Given the description of an element on the screen output the (x, y) to click on. 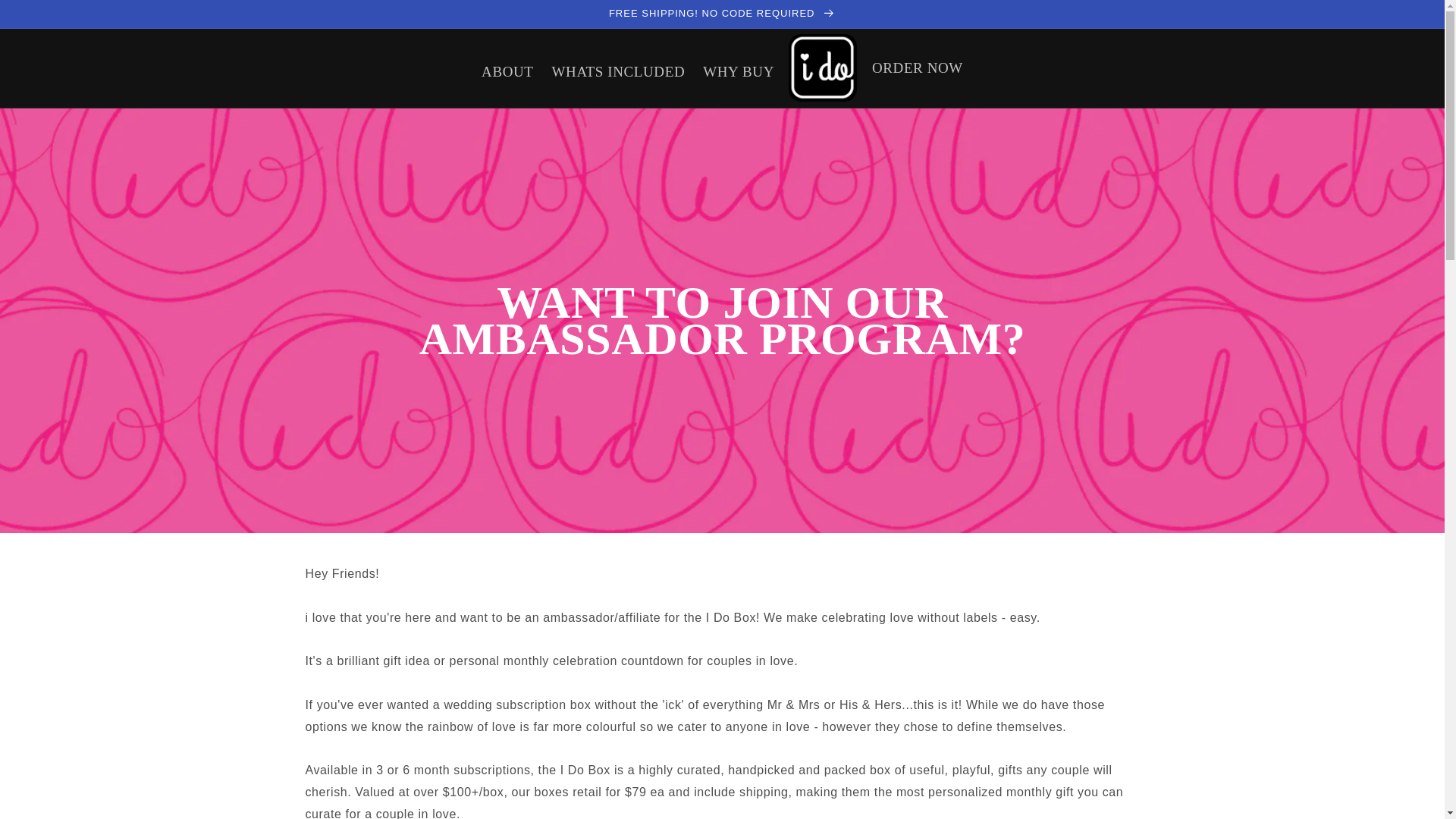
WHATS INCLUDED (618, 72)
ABOUT (506, 72)
ORDER NOW (917, 67)
Skip to content (45, 17)
WHY BUY (738, 72)
